Given the description of an element on the screen output the (x, y) to click on. 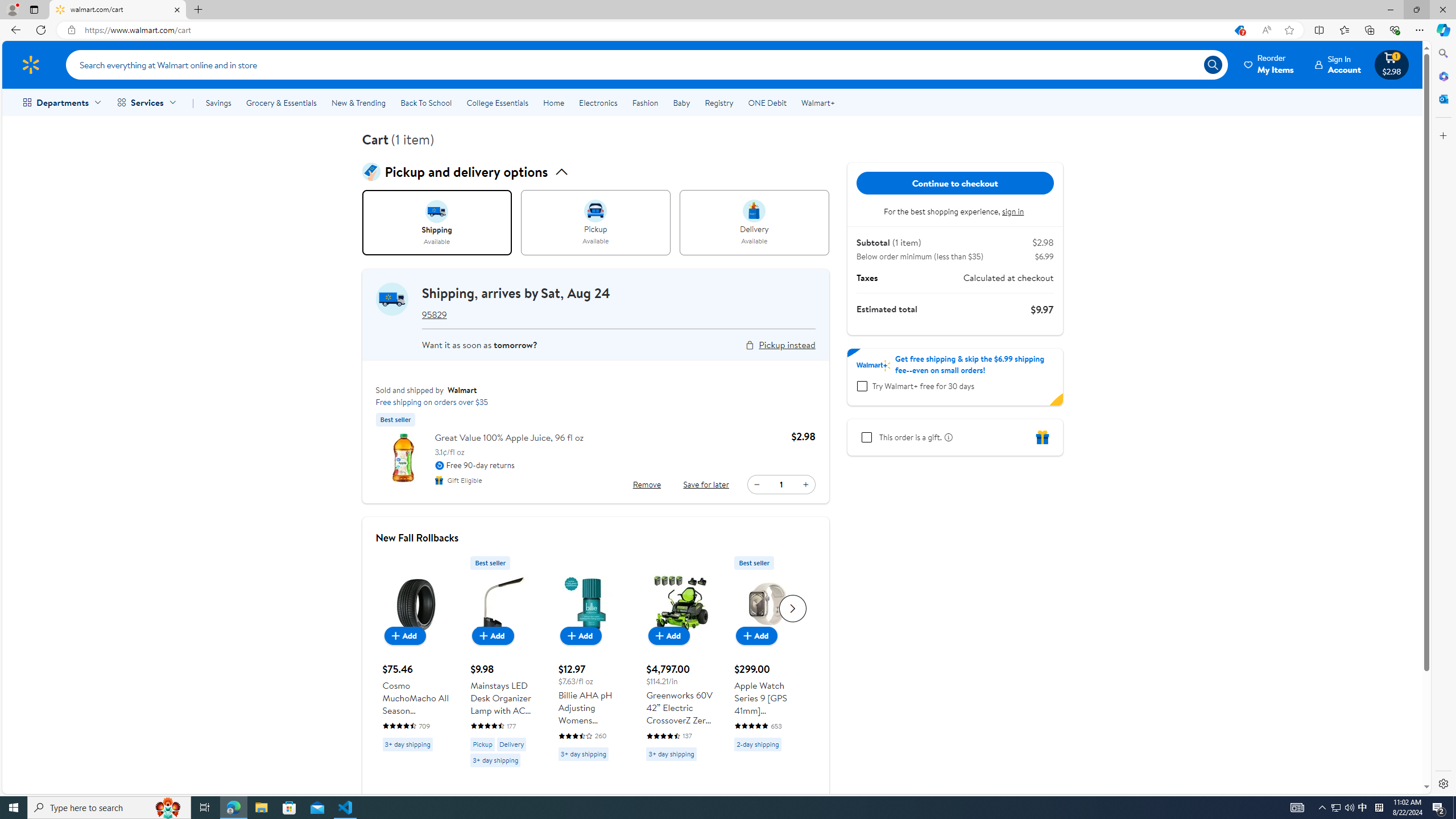
Baby (681, 102)
ONE Debit (767, 102)
Sign InAccount (1338, 64)
Savings (217, 102)
Electronics (598, 102)
Walmart+ (817, 102)
Walmart+ (817, 102)
Save for later: Great Value 100% Apple Juice, 96 fl oz (705, 484)
